Given the description of an element on the screen output the (x, y) to click on. 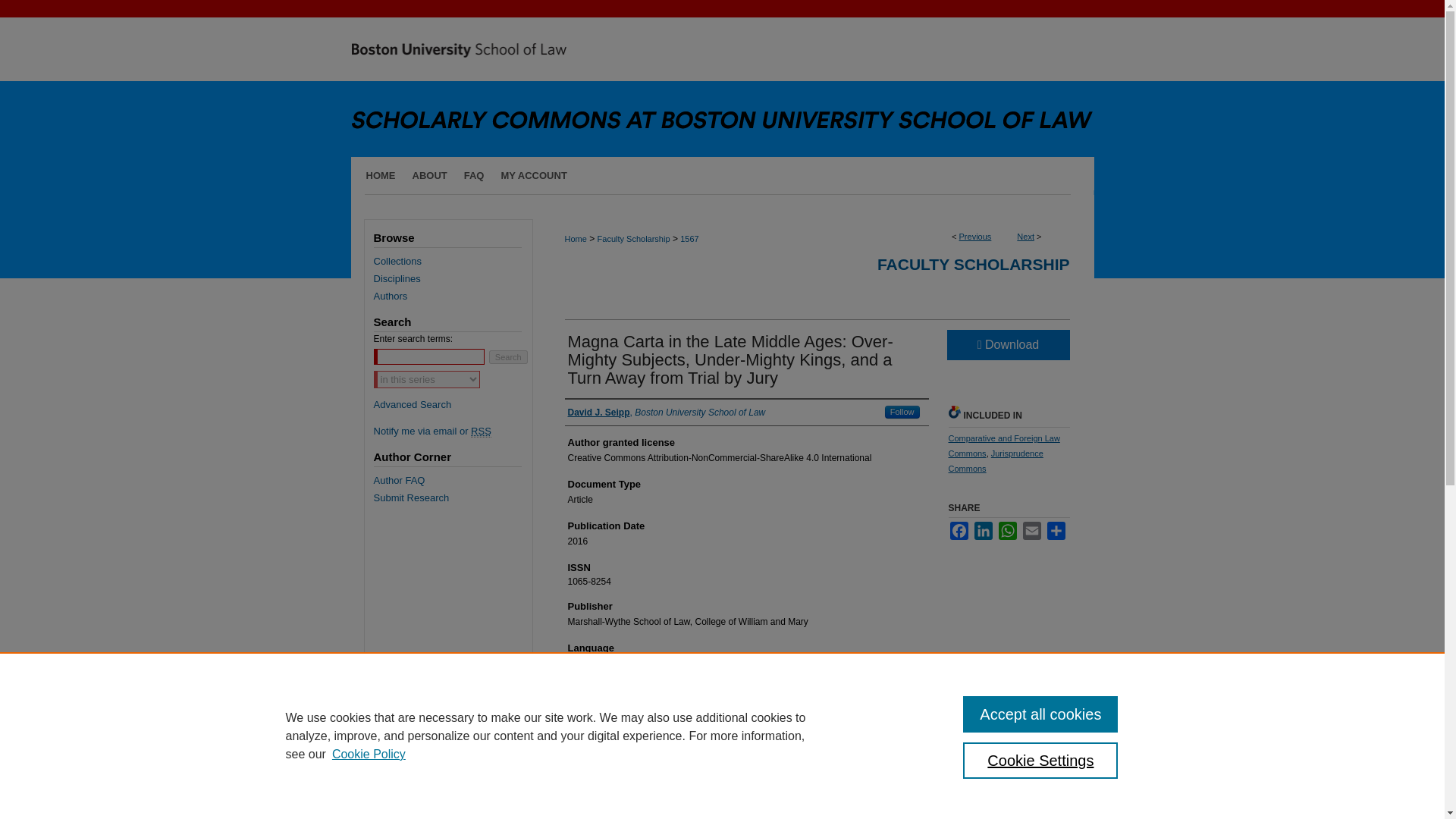
Jurisprudence Commons (994, 460)
Download (1007, 345)
Search (508, 356)
Scholarly Commons at Boston University School of Law (721, 78)
Notify me via email or RSS (452, 430)
Previous (975, 235)
Comparative and Foreign Law Commons (1003, 445)
HOME (376, 175)
Next (1024, 235)
Faculty Scholarship (632, 238)
Email (1031, 530)
Follow (902, 411)
Facebook (958, 530)
WhatsApp (1006, 530)
